Given the description of an element on the screen output the (x, y) to click on. 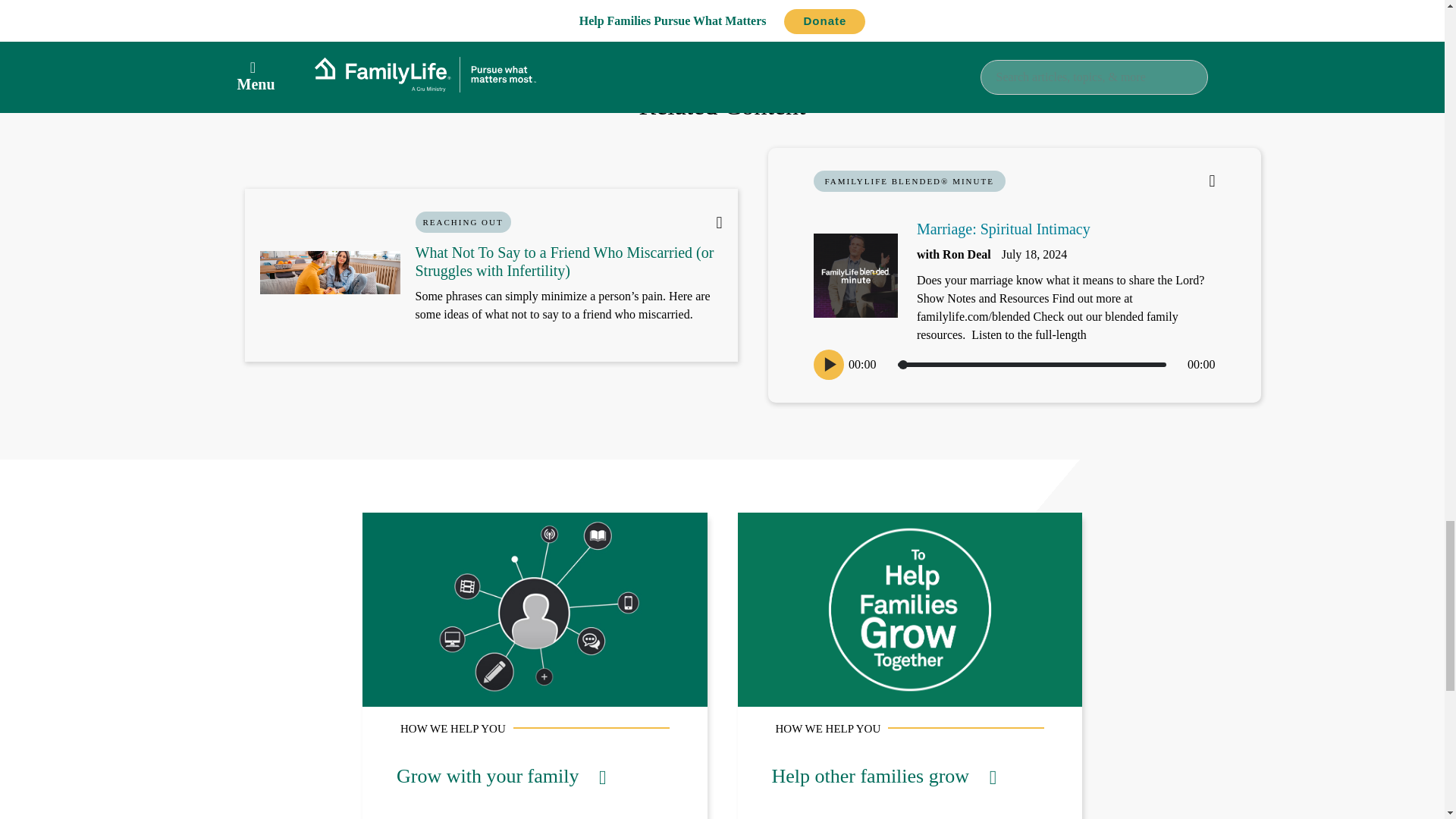
0 (1032, 364)
Marriage: Spiritual Intimacy (1003, 228)
REACHING OUT (462, 221)
Grow with your family (500, 775)
Help other families grow (884, 775)
